Given the description of an element on the screen output the (x, y) to click on. 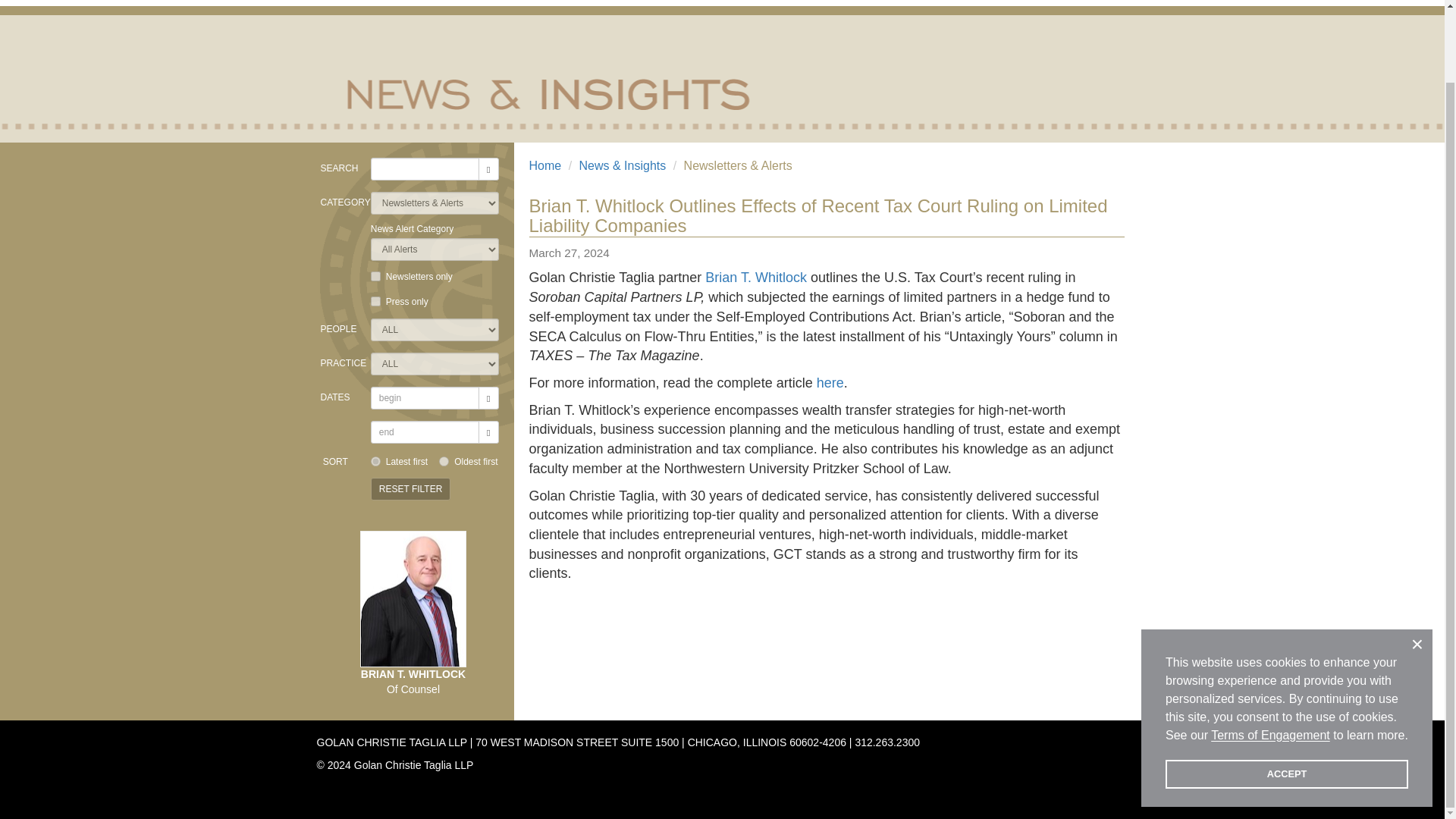
1 (375, 301)
asc (443, 461)
Brian T. Whitlock (755, 277)
desc (375, 461)
Home (545, 164)
1 (375, 276)
RESET FILTER (411, 488)
DEIA (931, 2)
OUR PRACTICE (869, 2)
GCT BLOGS (1087, 2)
OUR PEOPLE (789, 2)
OUR FIRM (715, 2)
HOME (656, 2)
